Given the description of an element on the screen output the (x, y) to click on. 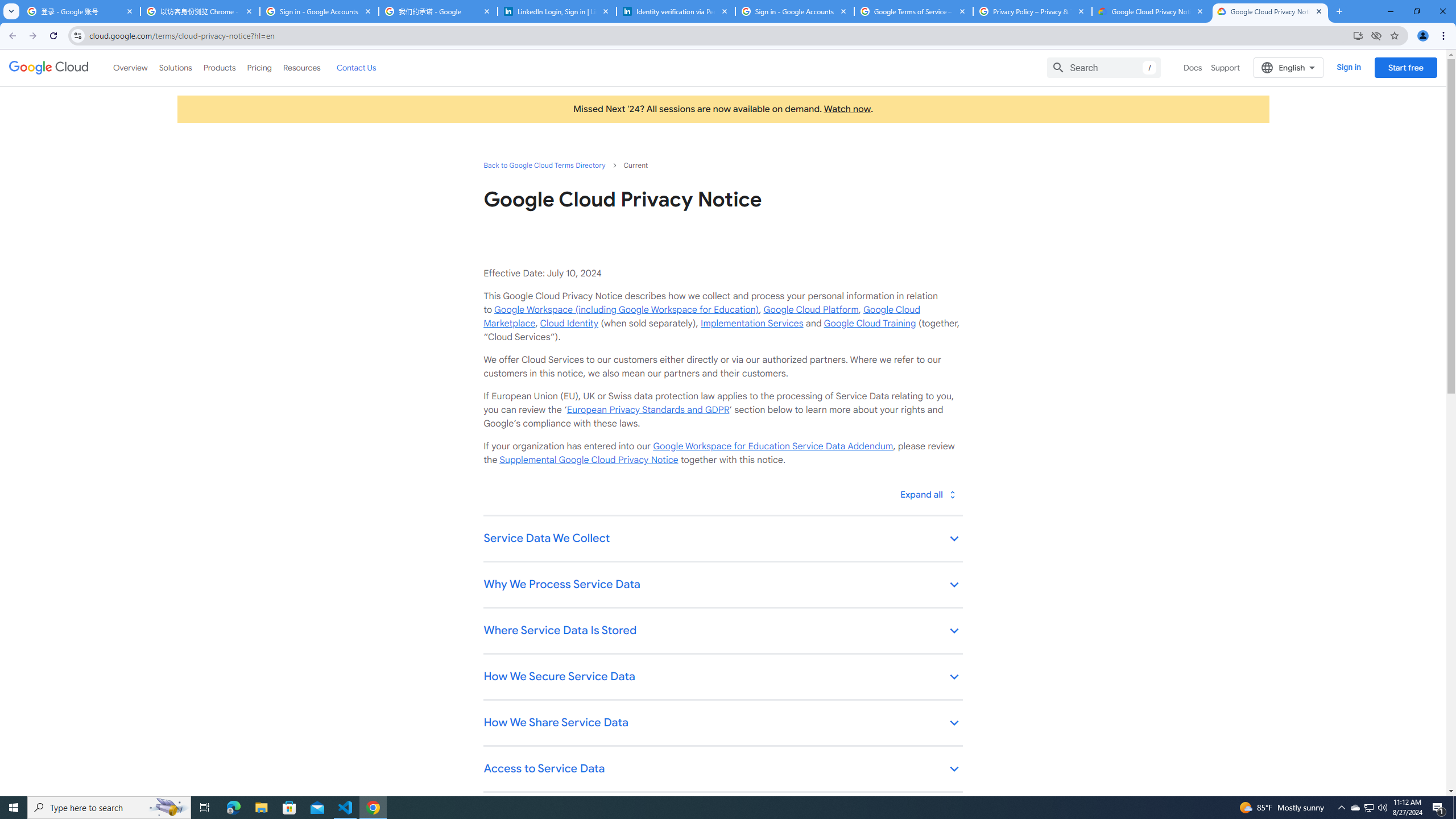
Identity verification via Persona | LinkedIn Help (676, 11)
Resources (301, 67)
